Given the description of an element on the screen output the (x, y) to click on. 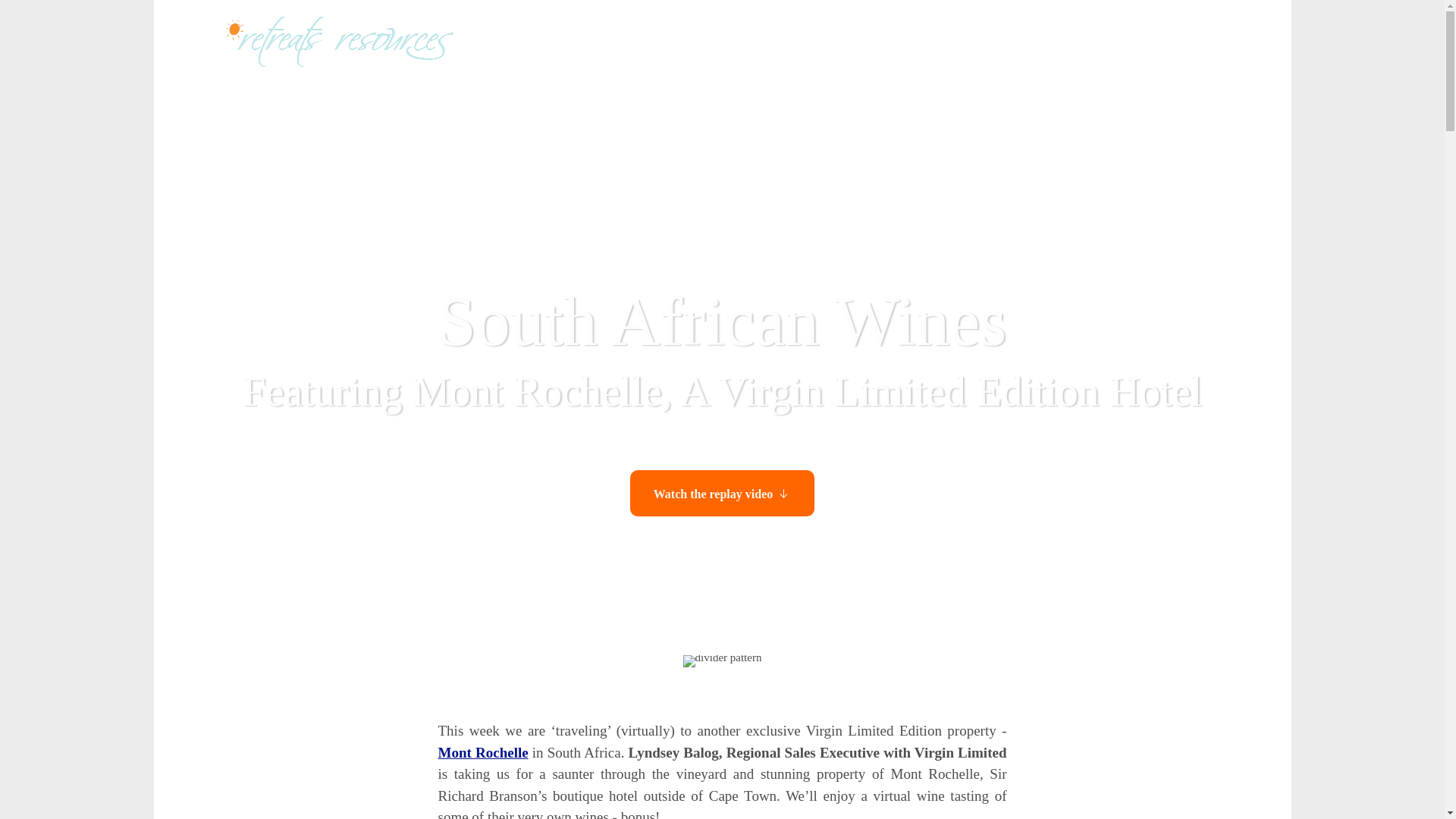
Mont Rochelle, South Africa (483, 752)
watch the Dorchester Collection replay video (721, 493)
Featuring Mont Rochelle, A Virgin Limited Edition Hotel (721, 391)
Mont Rochelle (483, 752)
Giving Back (1147, 41)
Watch the replay video (721, 493)
Watch the replay video (721, 493)
South African Wines (721, 321)
